Given the description of an element on the screen output the (x, y) to click on. 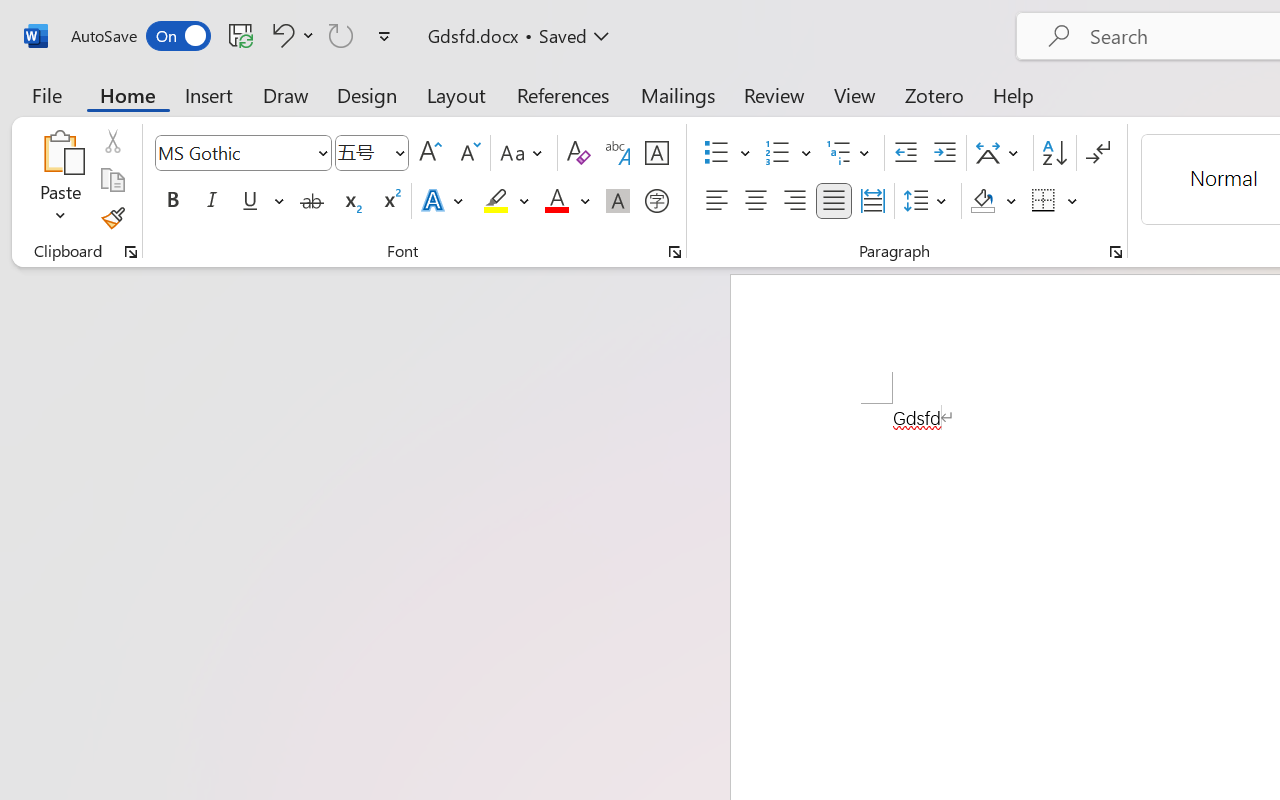
Undo Font Formatting (290, 35)
Shading RGB(0, 0, 0) (982, 201)
